Given the description of an element on the screen output the (x, y) to click on. 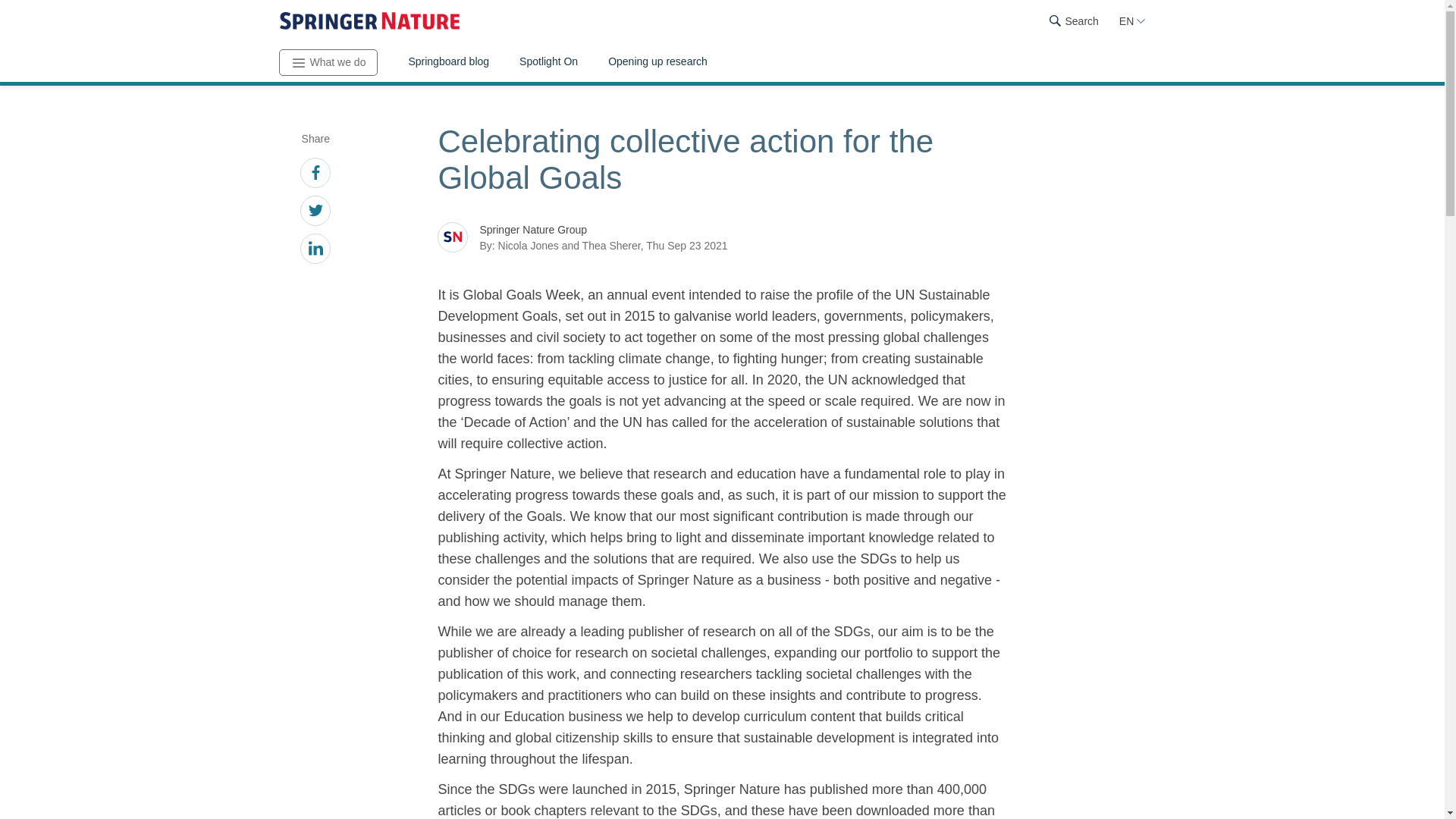
Opening up research (657, 62)
Springer Nature (369, 20)
twitter (315, 212)
linkedin (315, 250)
Springboard blog (448, 62)
What we do (328, 62)
Spotlight On (547, 62)
facebook (315, 174)
